Given the description of an element on the screen output the (x, y) to click on. 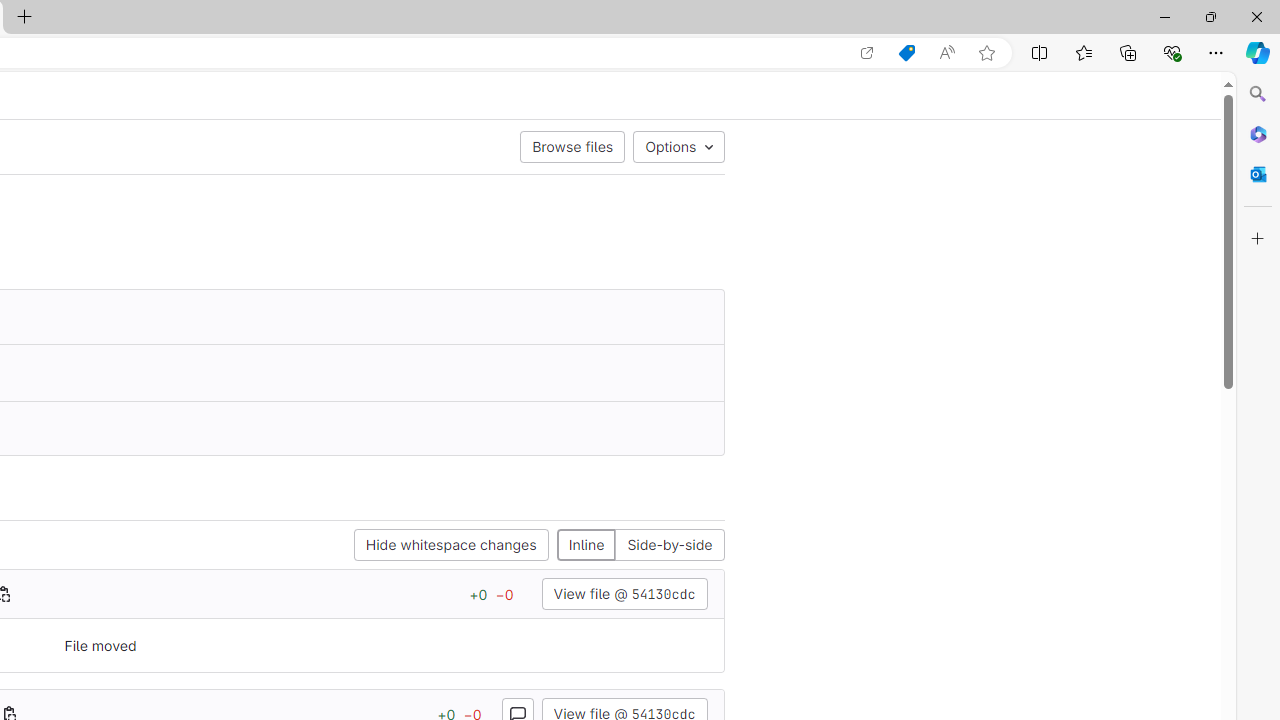
Inline (585, 545)
Options (678, 146)
